Given the description of an element on the screen output the (x, y) to click on. 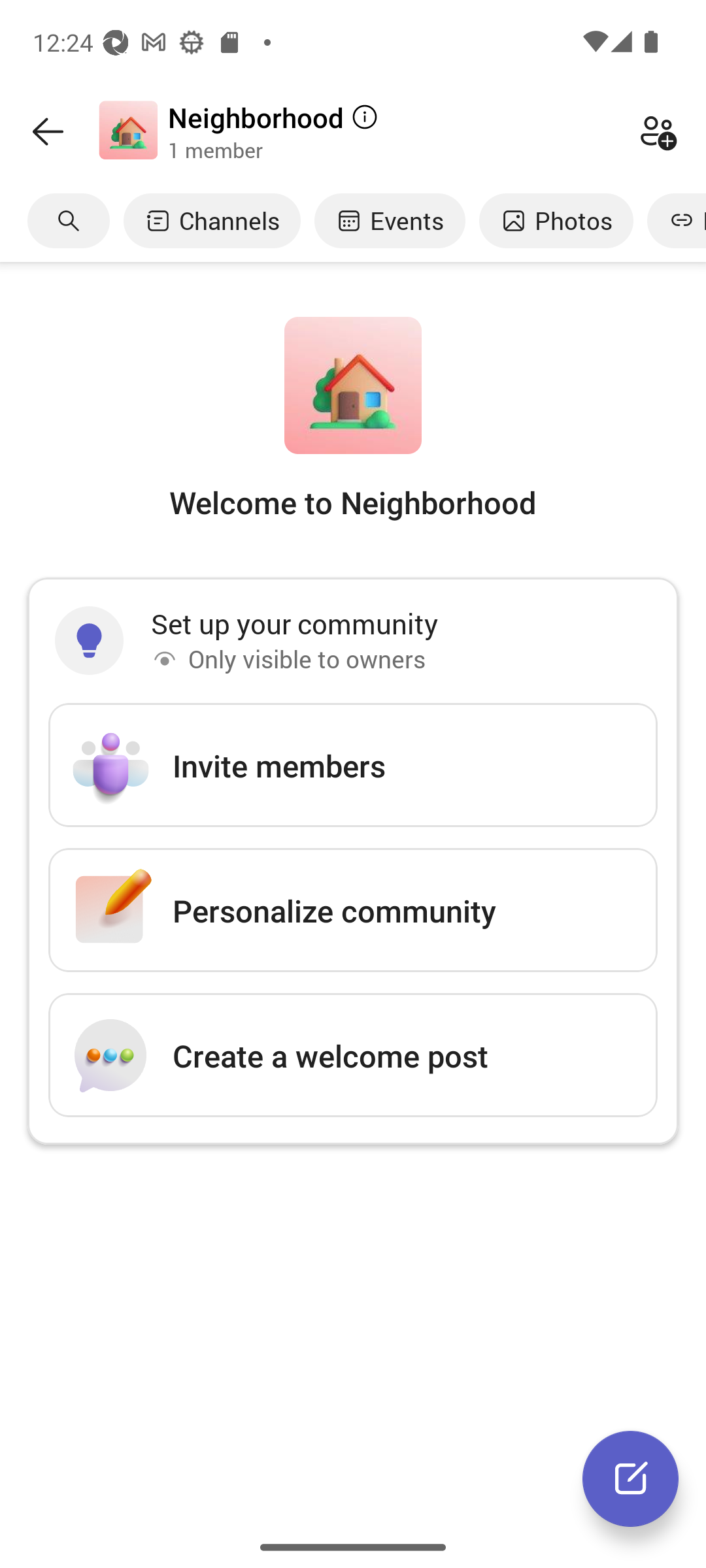
Back (47, 131)
Neighborhood 1 member (395, 131)
Add members (657, 131)
Search tab, 1 of 6 (68, 219)
Channels tab, 2 of 6 Channels (211, 219)
Events tab, 3 of 6 Events (389, 219)
Photos tab, 4 of 6 Photos (556, 219)
Invite members (352, 764)
Personalize community (352, 910)
Create a welcome post (352, 1054)
New conversation (630, 1478)
